Given the description of an element on the screen output the (x, y) to click on. 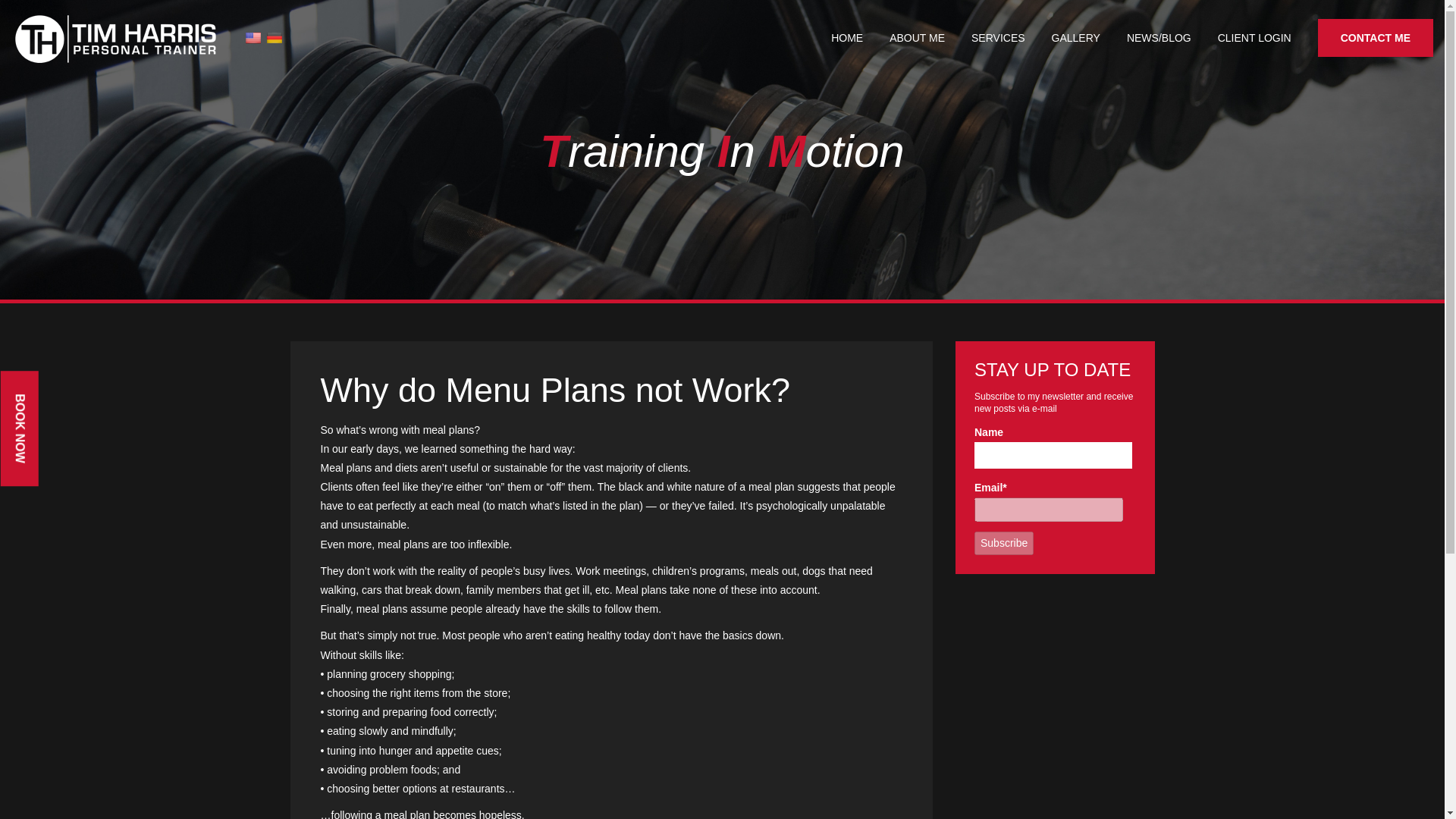
Subscribe (1003, 543)
CONTACT ME (1374, 37)
BOOK NOW (58, 389)
ABOUT ME (916, 37)
Subscribe (1003, 543)
HOME (847, 37)
SERVICES (998, 37)
GALLERY (1075, 37)
CLIENT LOGIN (1254, 37)
